Given the description of an element on the screen output the (x, y) to click on. 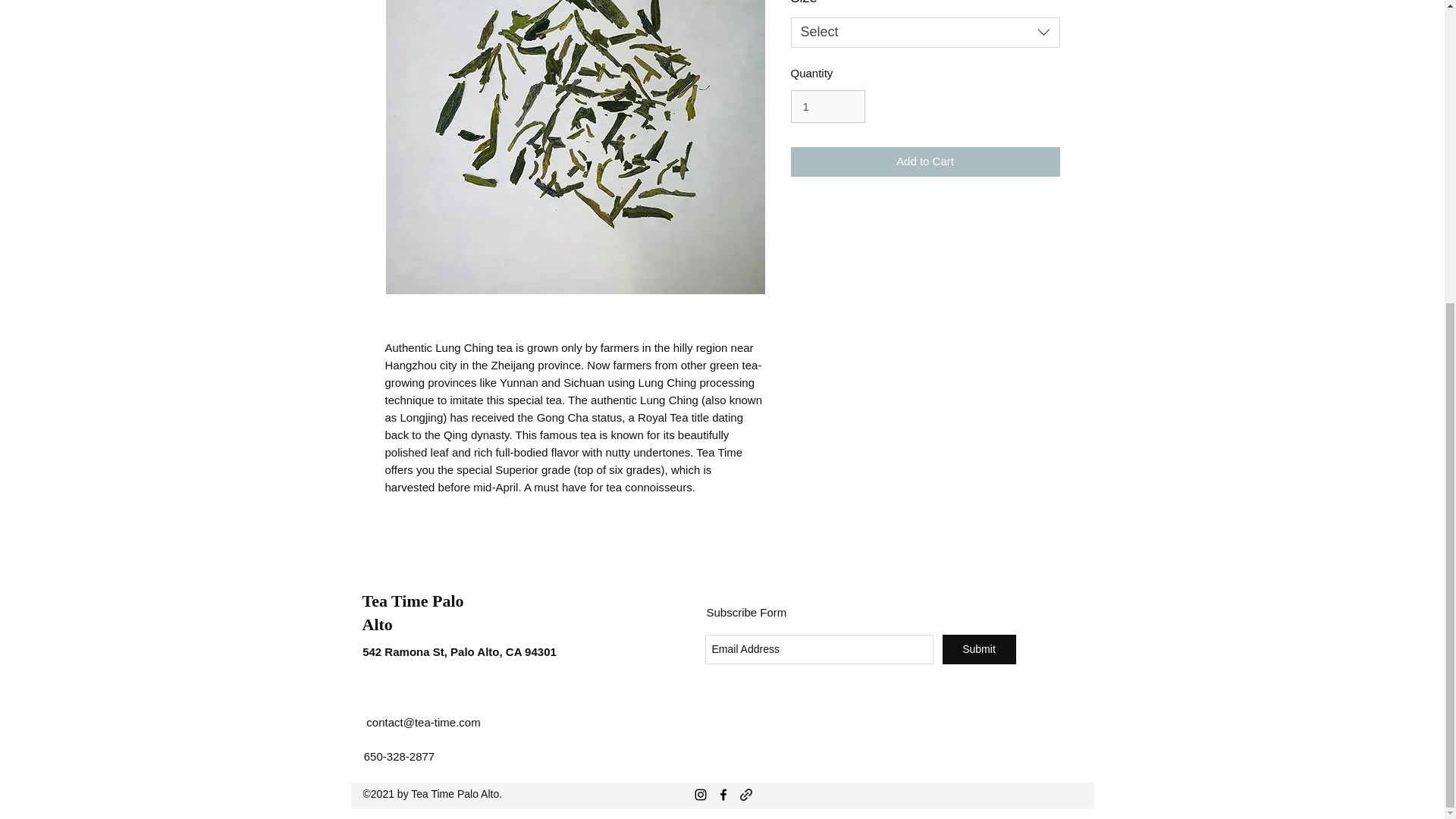
1 (827, 106)
Tea Time Palo Alto (413, 612)
Add to Cart (924, 161)
Select (924, 32)
